Given the description of an element on the screen output the (x, y) to click on. 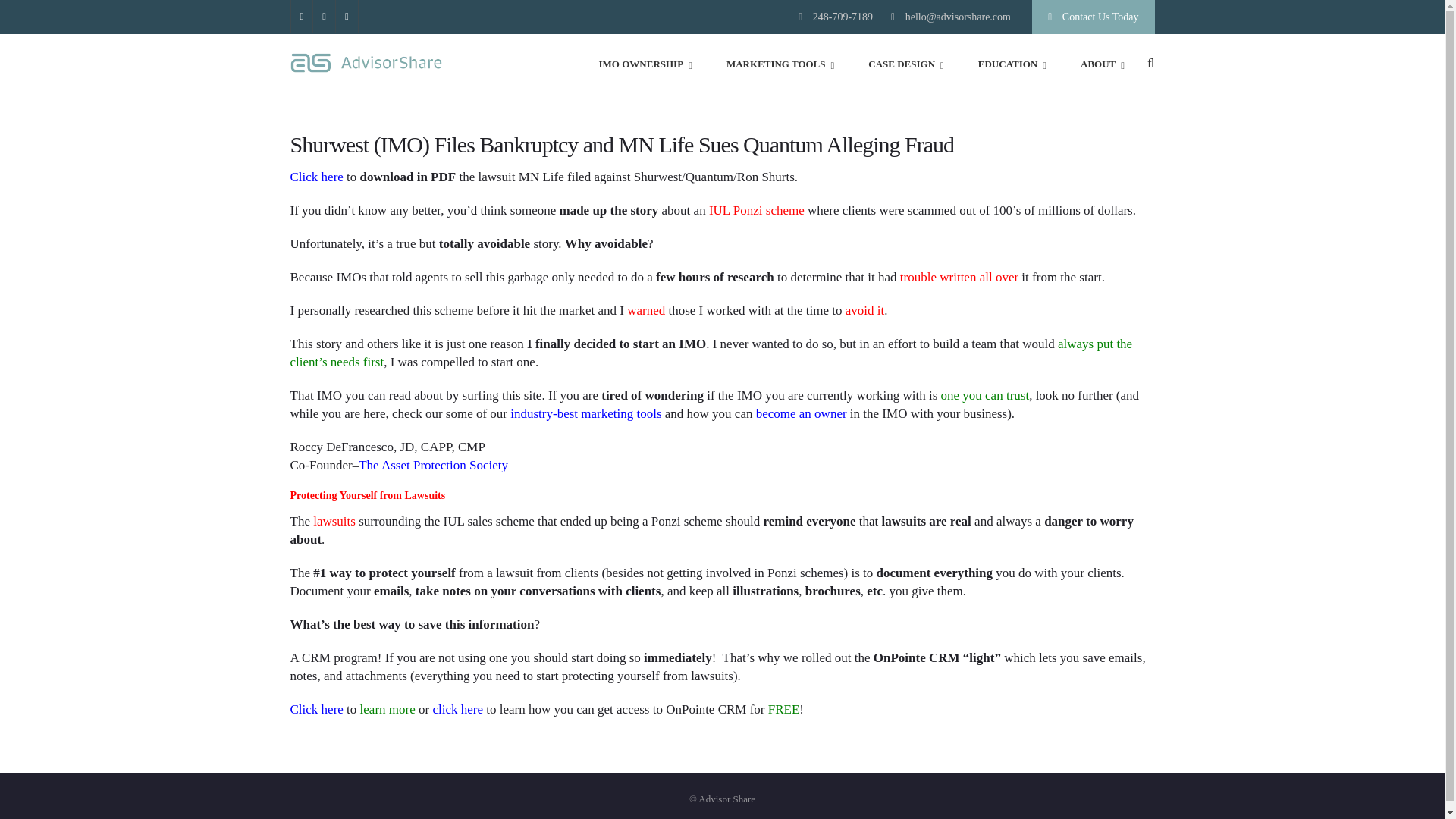
CASE DESIGN (905, 64)
Contact Us Today (1093, 17)
MARKETING TOOLS (780, 64)
IMO OWNERSHIP (645, 64)
EDUCATION (1012, 64)
